Given the description of an element on the screen output the (x, y) to click on. 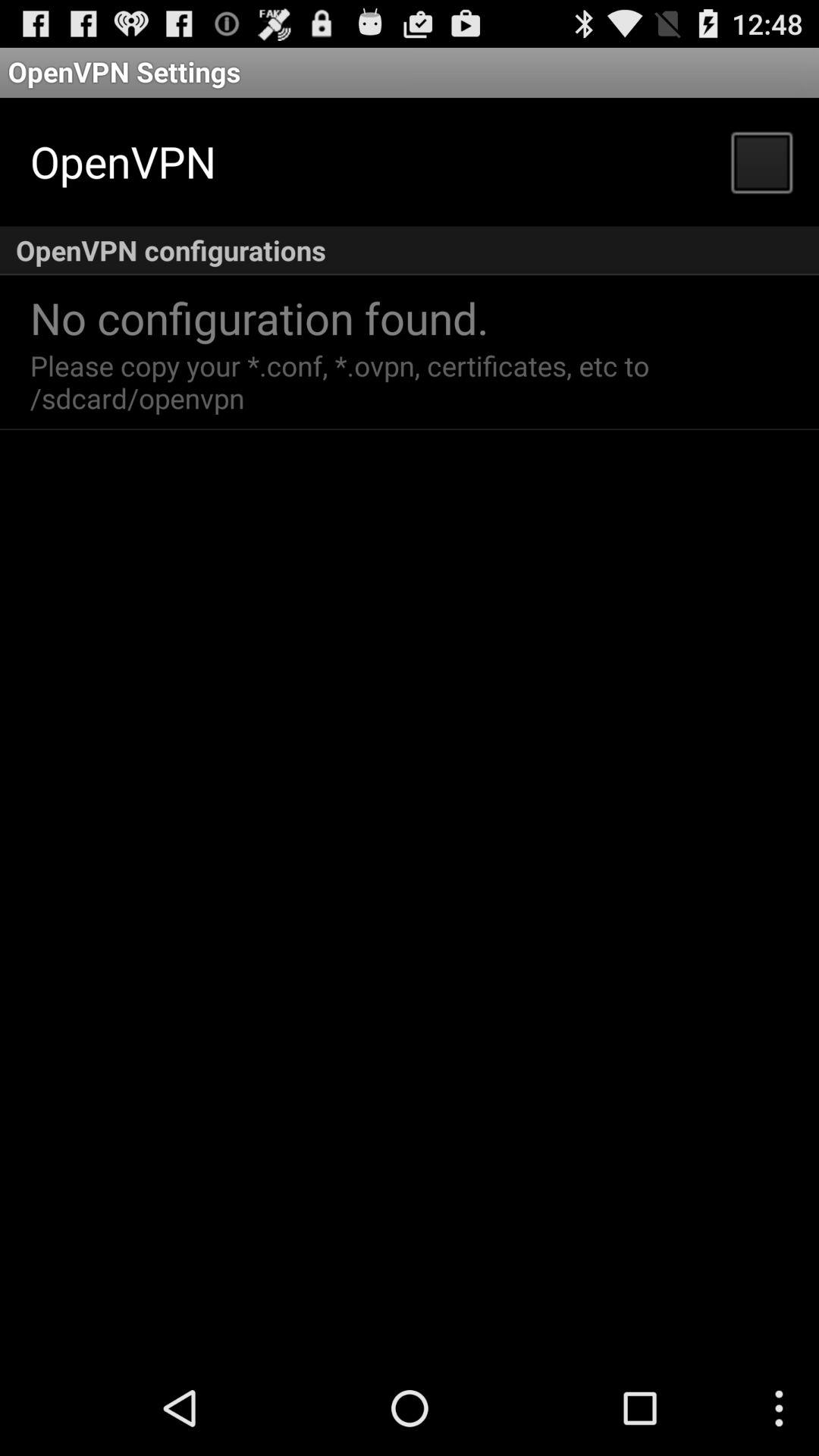
click item above the please copy your icon (259, 317)
